Given the description of an element on the screen output the (x, y) to click on. 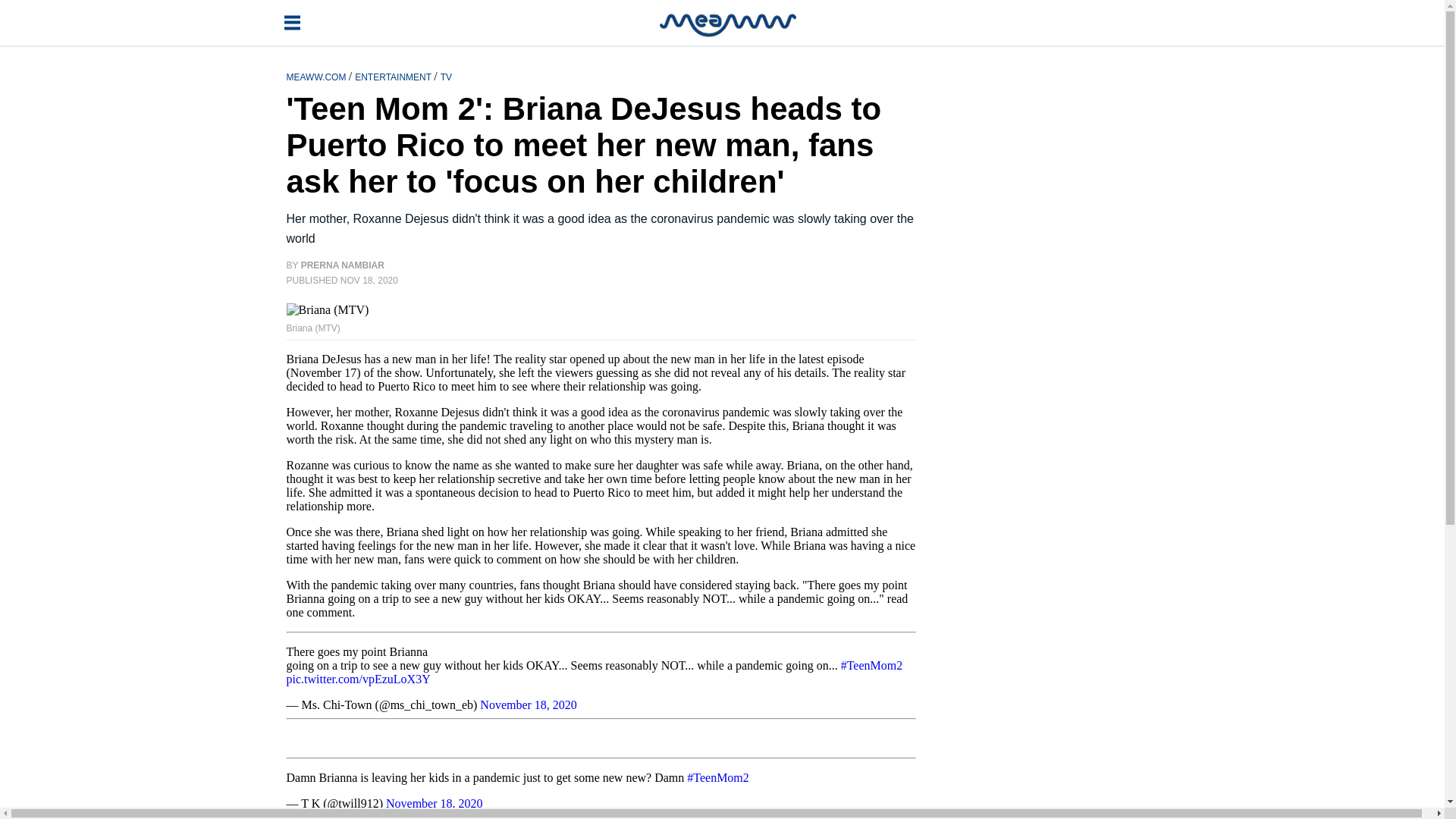
MEAWW.COM (317, 75)
TV (446, 75)
PRERNA NAMBIAR (342, 265)
November 18, 2020 (528, 704)
November 18, 2020 (434, 802)
ENTERTAINMENT (394, 75)
